Given the description of an element on the screen output the (x, y) to click on. 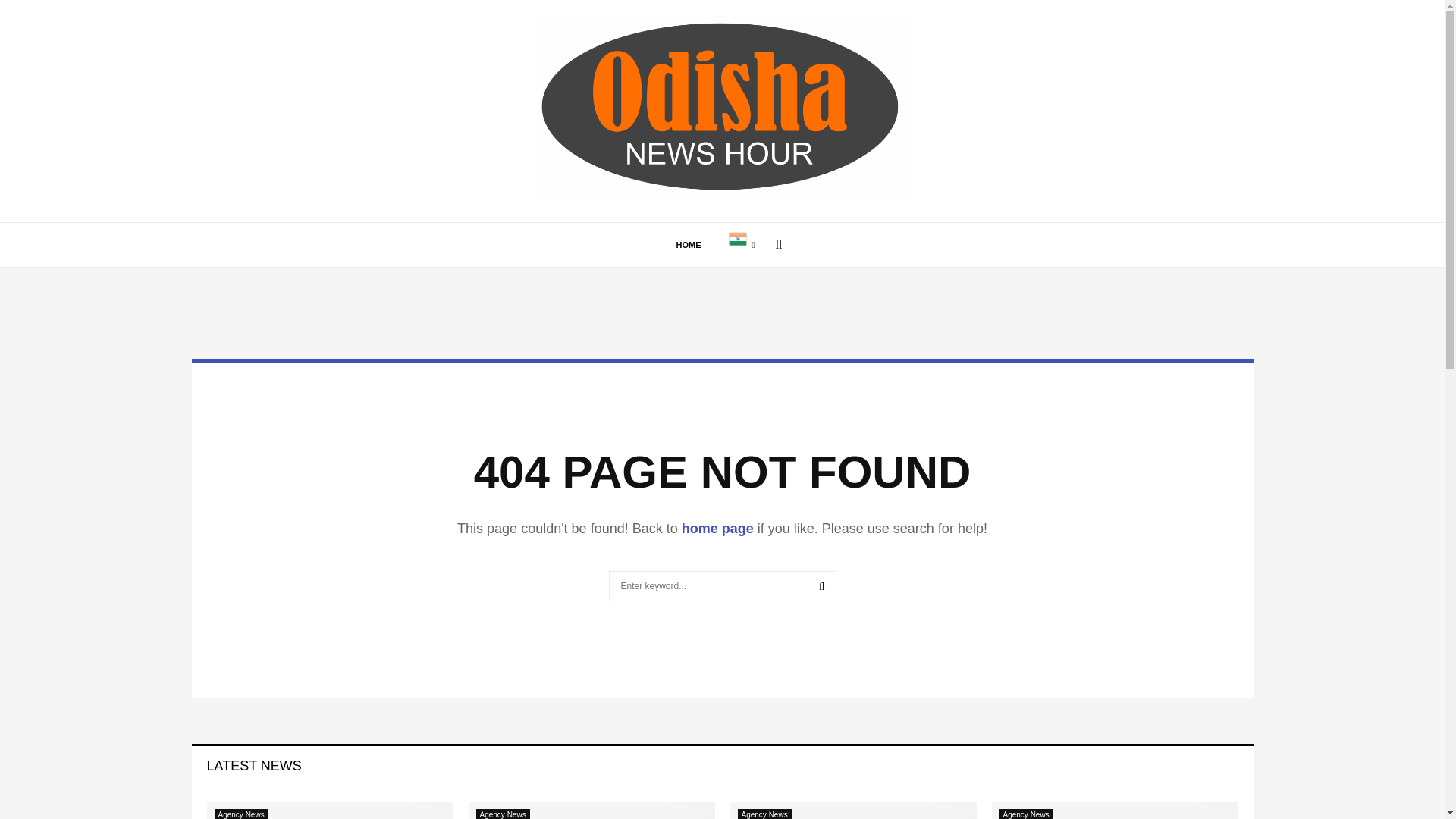
View all posts in Agency News (1025, 814)
LATEST NEWS (253, 765)
Agency News (763, 814)
View all posts in Agency News (763, 814)
Agency News (1025, 814)
View all posts in Agency News (240, 814)
home page (717, 528)
Agency News (502, 814)
